Given the description of an element on the screen output the (x, y) to click on. 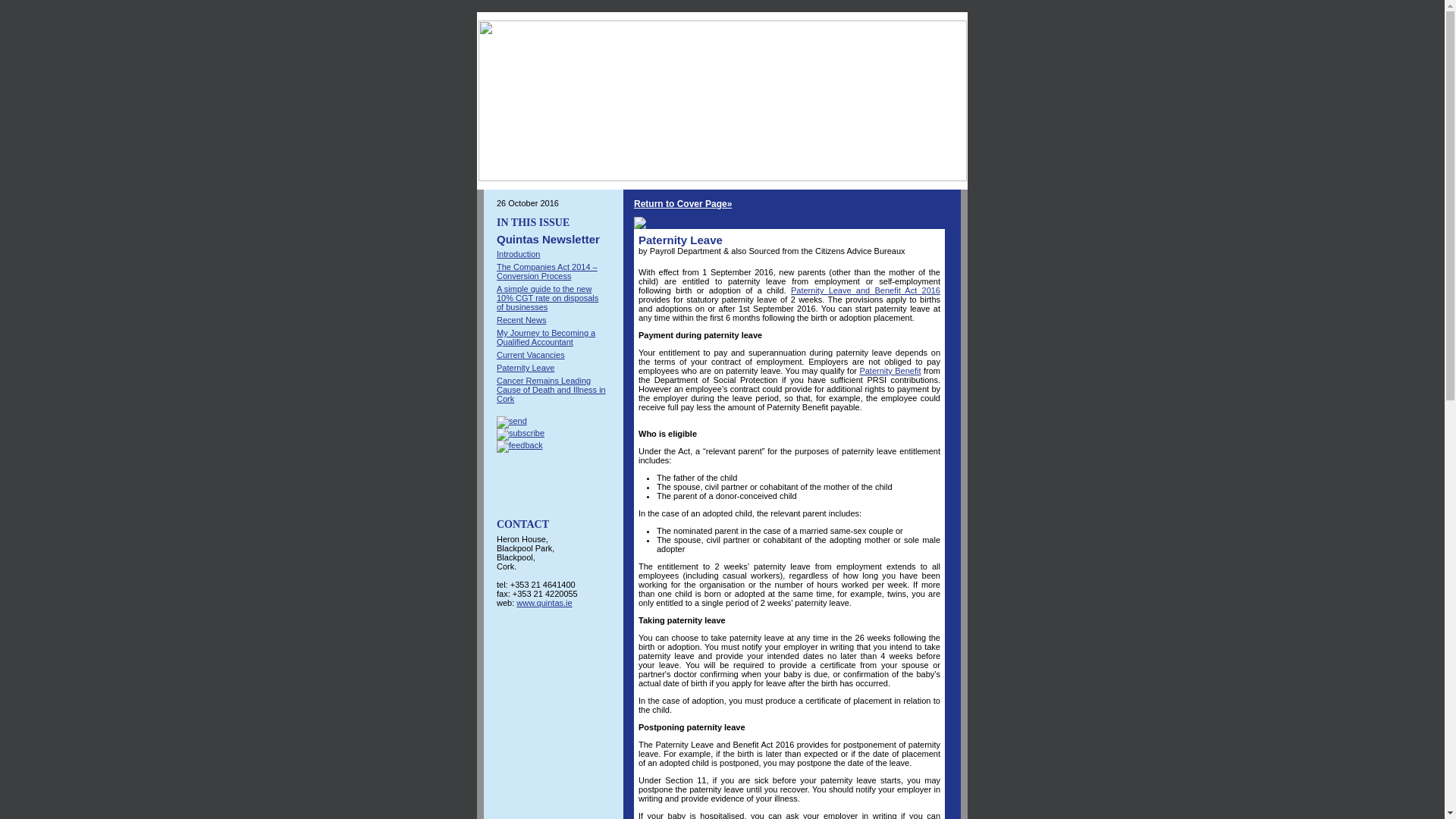
Paternity Leave and Benefit Act 2016 (865, 289)
www.quintas.ie (544, 602)
Current Vacancies (530, 354)
Cancer Remains Leading Cause of Death and Illness in Cork (550, 389)
Recent News (521, 319)
Paternity Benefit (889, 370)
Introduction (518, 253)
Paternity Leave (525, 367)
My Journey to Becoming a Qualified Accountant (545, 337)
